Given the description of an element on the screen output the (x, y) to click on. 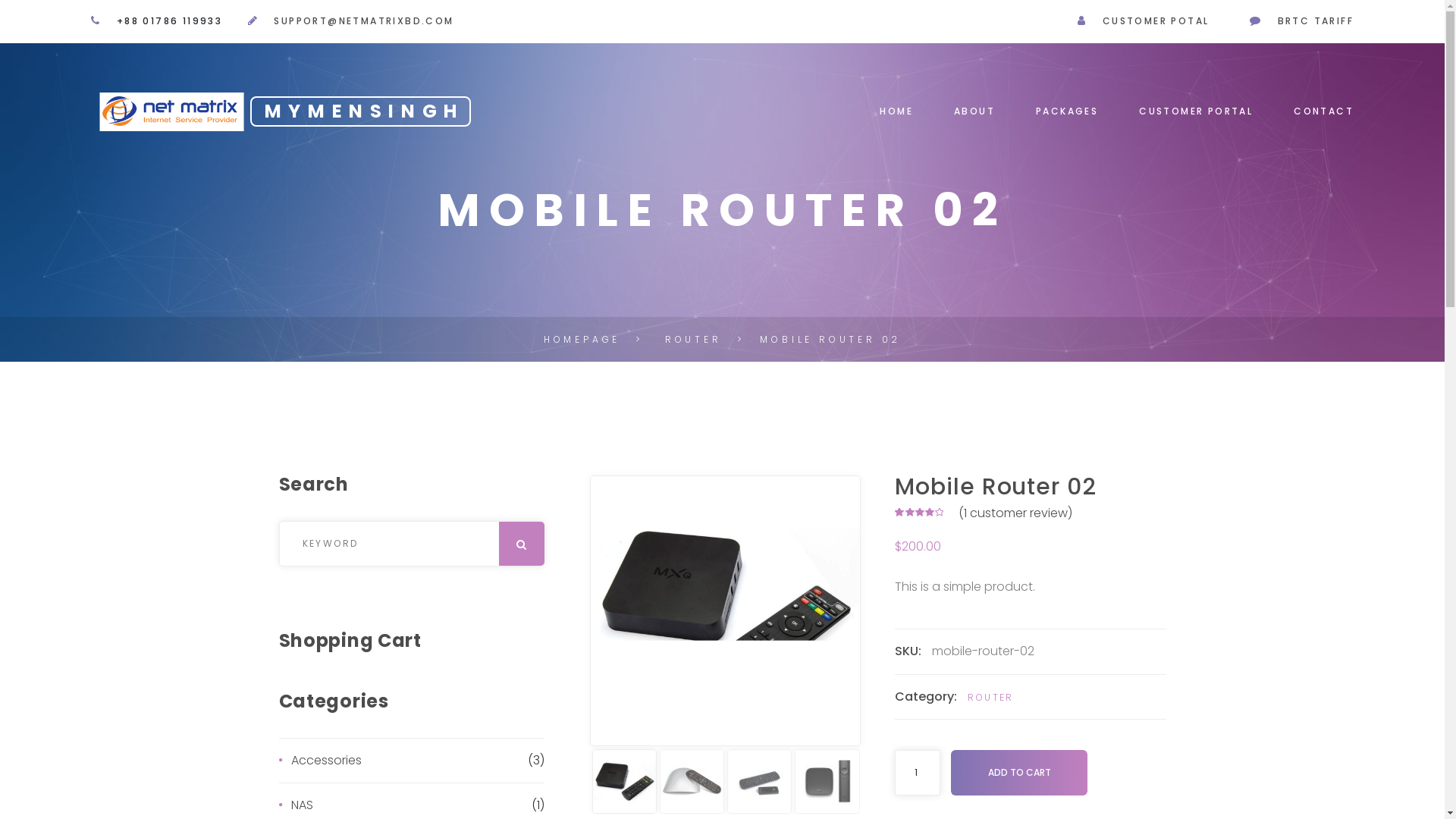
MYMENSINGH Element type: text (240, 111)
ROUTER Element type: text (693, 338)
PACKAGES Element type: text (1066, 111)
SUPPORT@NETMATRIXBD.COM Element type: text (363, 20)
HOMEPAGE Element type: text (581, 338)
Accessories Element type: text (409, 760)
CUSTOMER POTAL Element type: text (1155, 20)
ADD TO CART Element type: text (1018, 771)
ABOUT Element type: text (973, 111)
02 Element type: hover (724, 610)
CUSTOMER PORTAL Element type: text (1195, 111)
01 Element type: hover (994, 610)
BRTC TARIFF Element type: text (1315, 20)
(1 customer review) Element type: text (1015, 513)
ROUTER Element type: text (990, 696)
CONTACT Element type: text (1323, 111)
Qty Element type: hover (917, 772)
SEARCH Element type: text (306, 578)
HOME Element type: text (896, 111)
